Given the description of an element on the screen output the (x, y) to click on. 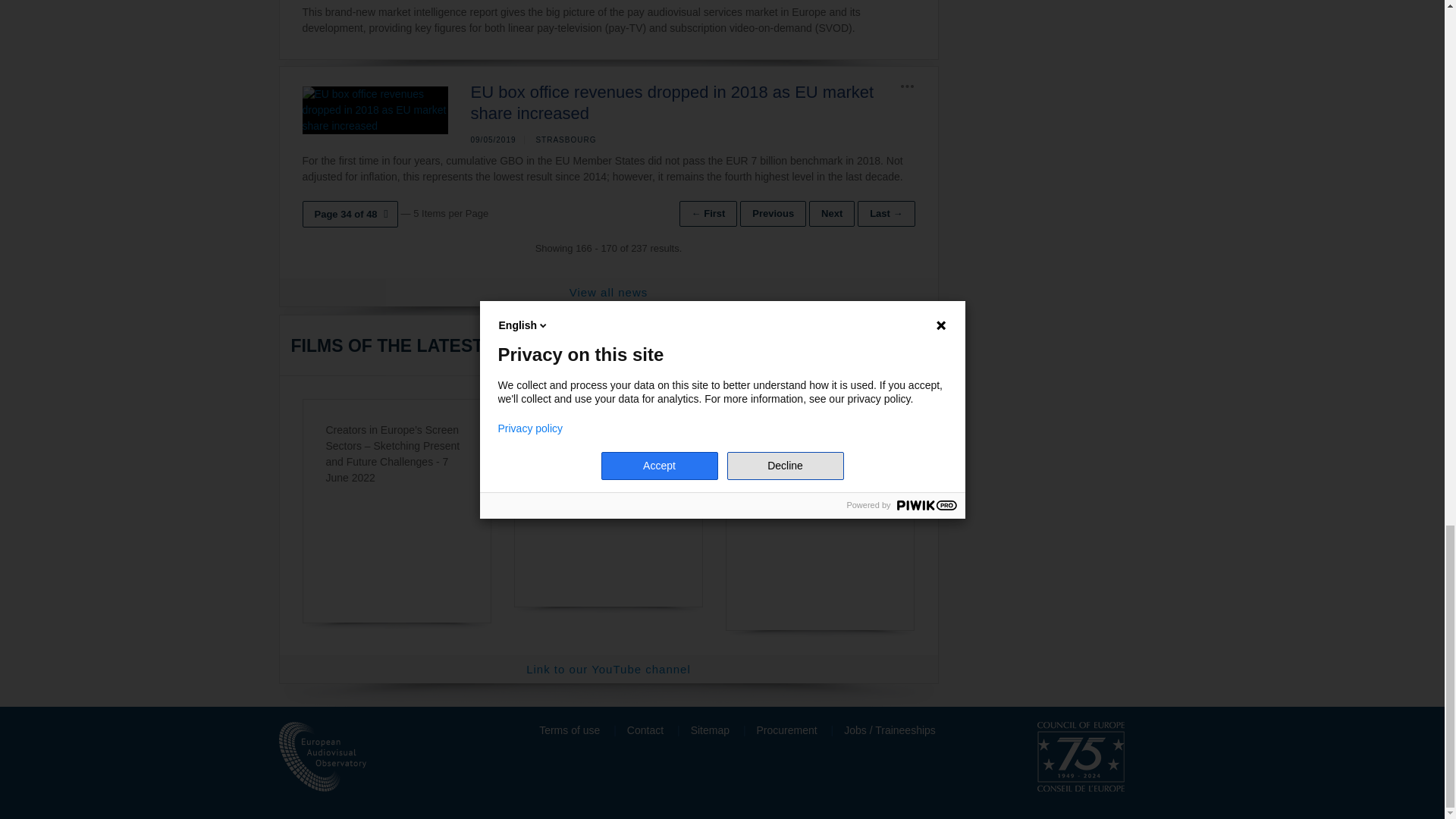
Page 34 of 48 (349, 213)
YouTube video player (608, 524)
YouTube video player (820, 524)
